Given the description of an element on the screen output the (x, y) to click on. 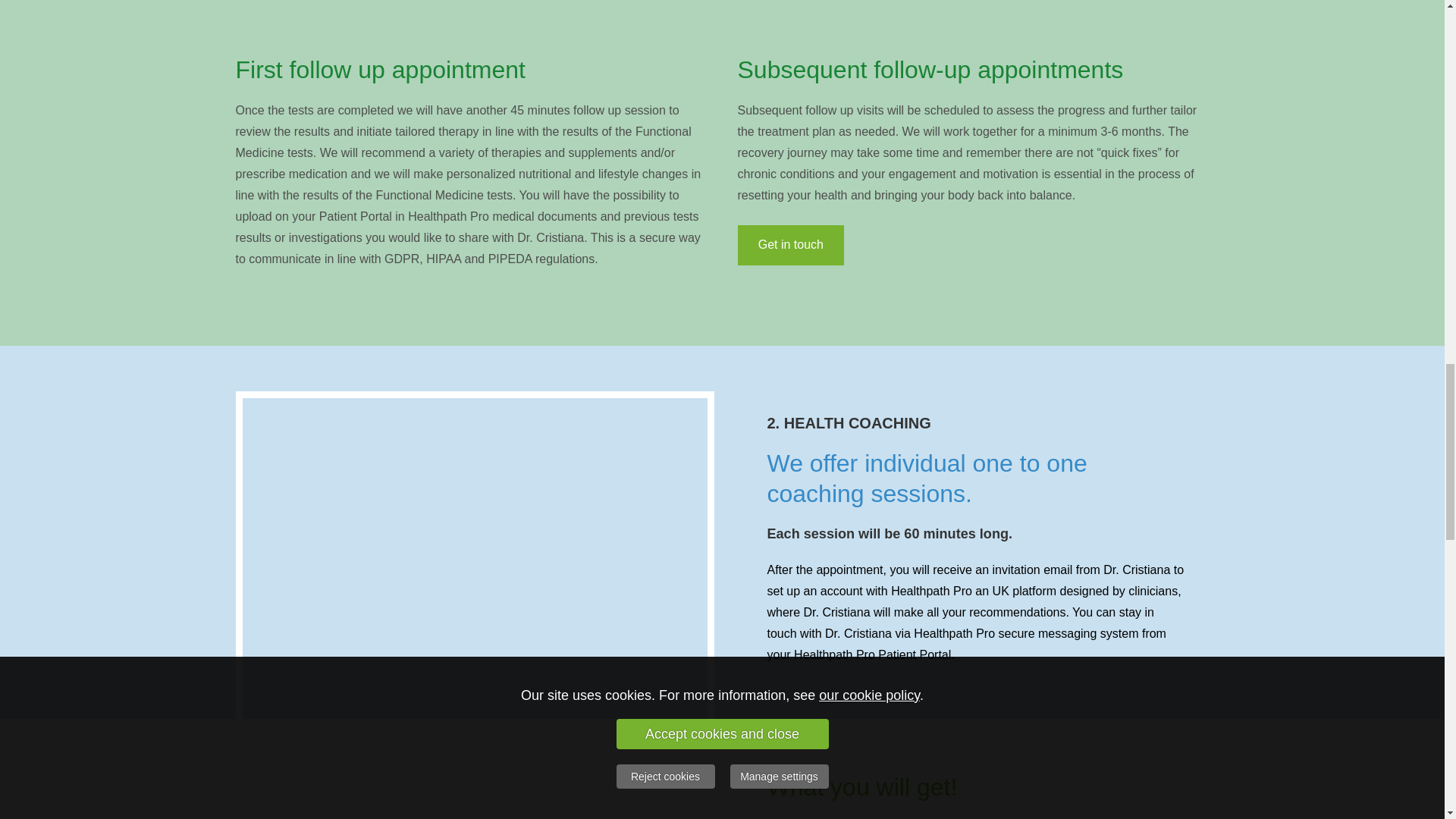
Get in touch (790, 245)
